Given the description of an element on the screen output the (x, y) to click on. 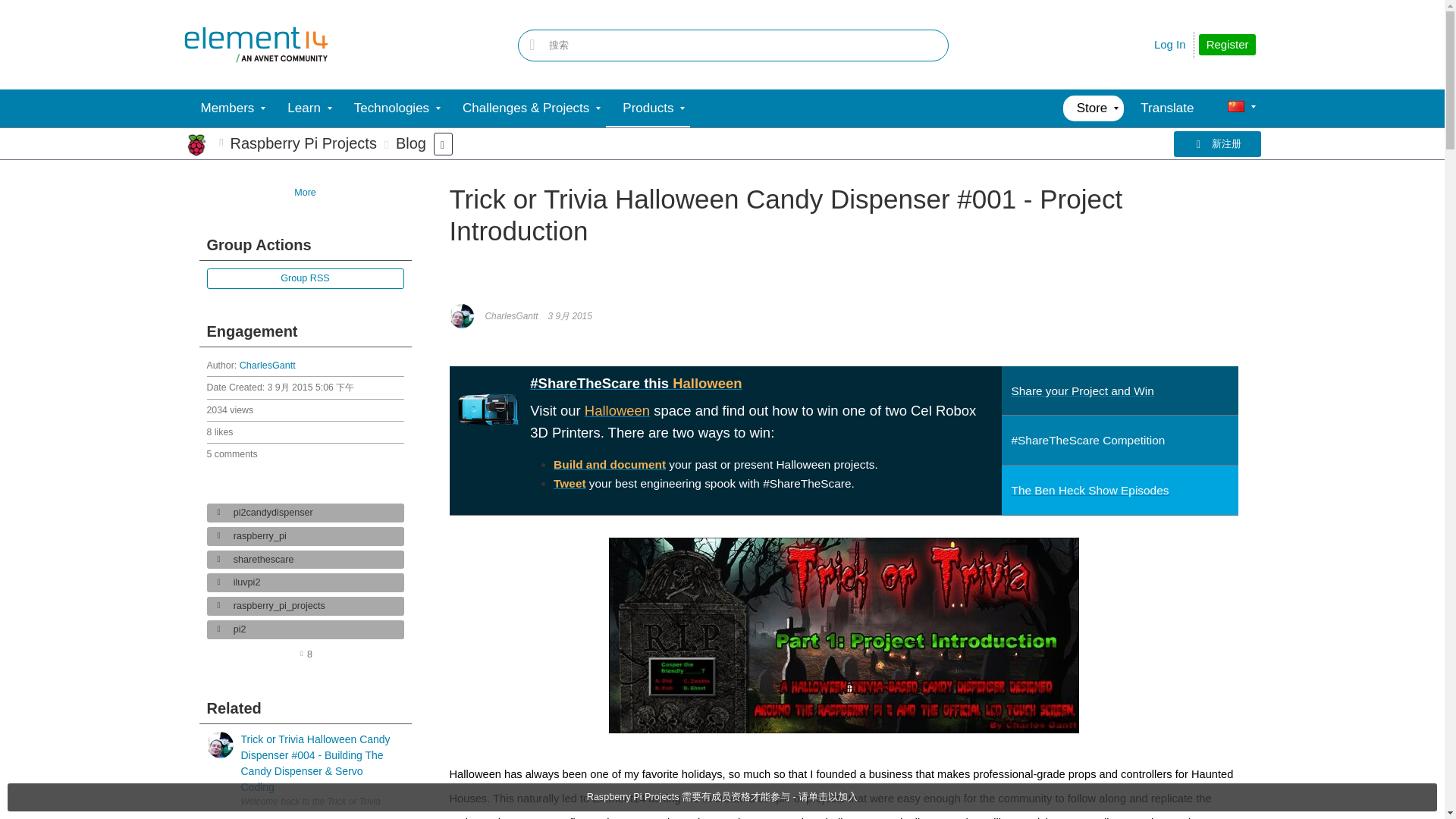
Log In (1170, 44)
Technologies (391, 108)
Learn (303, 108)
Register (1226, 44)
Register (1226, 44)
Members (226, 108)
Log In (1170, 44)
